Given the description of an element on the screen output the (x, y) to click on. 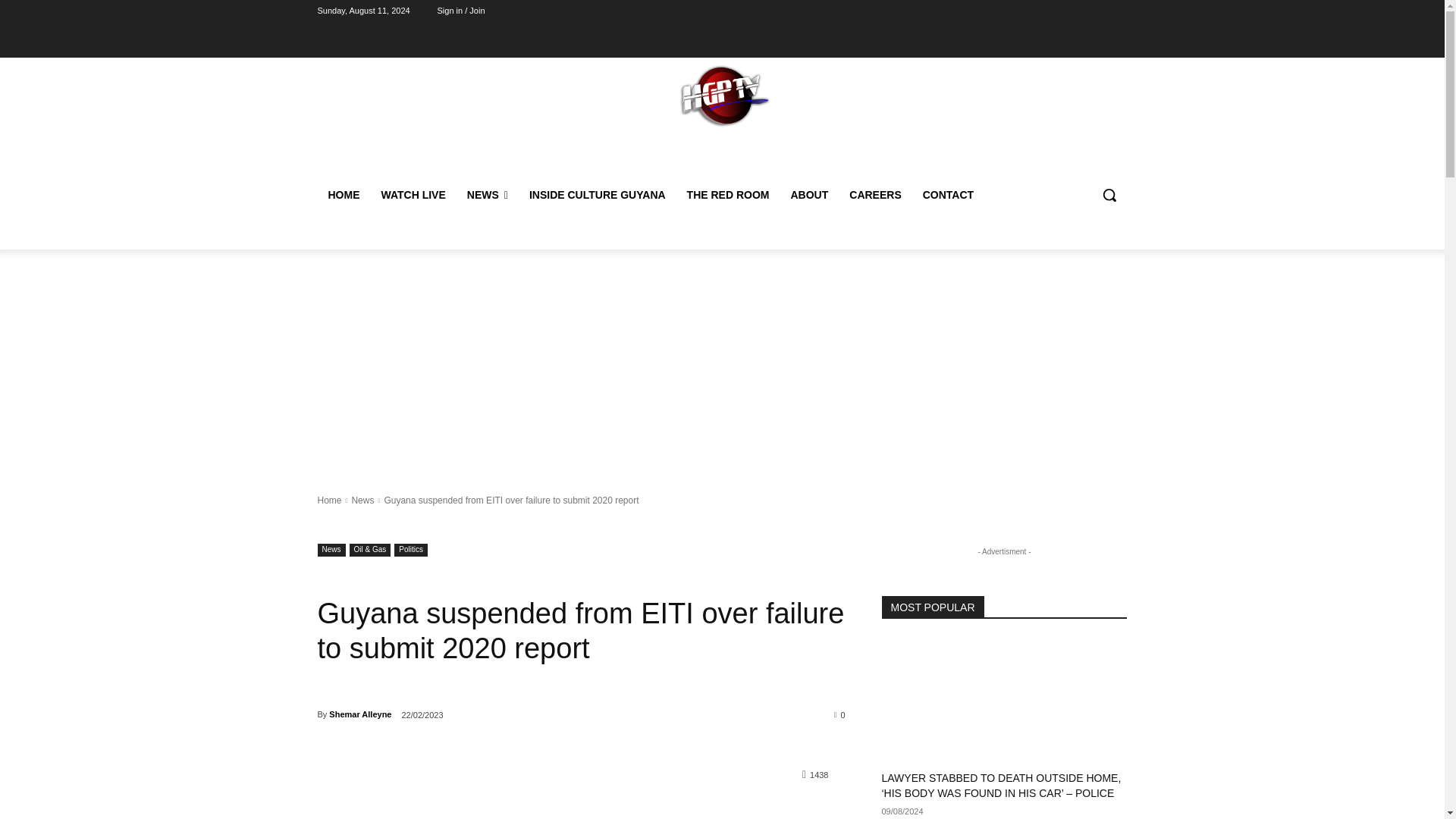
THE RED ROOM (728, 194)
View all posts in News (362, 500)
CAREERS (874, 194)
NEWS (487, 194)
WATCH LIVE (412, 194)
ABOUT (808, 194)
Home (328, 500)
News (362, 500)
0 (839, 714)
